Given the description of an element on the screen output the (x, y) to click on. 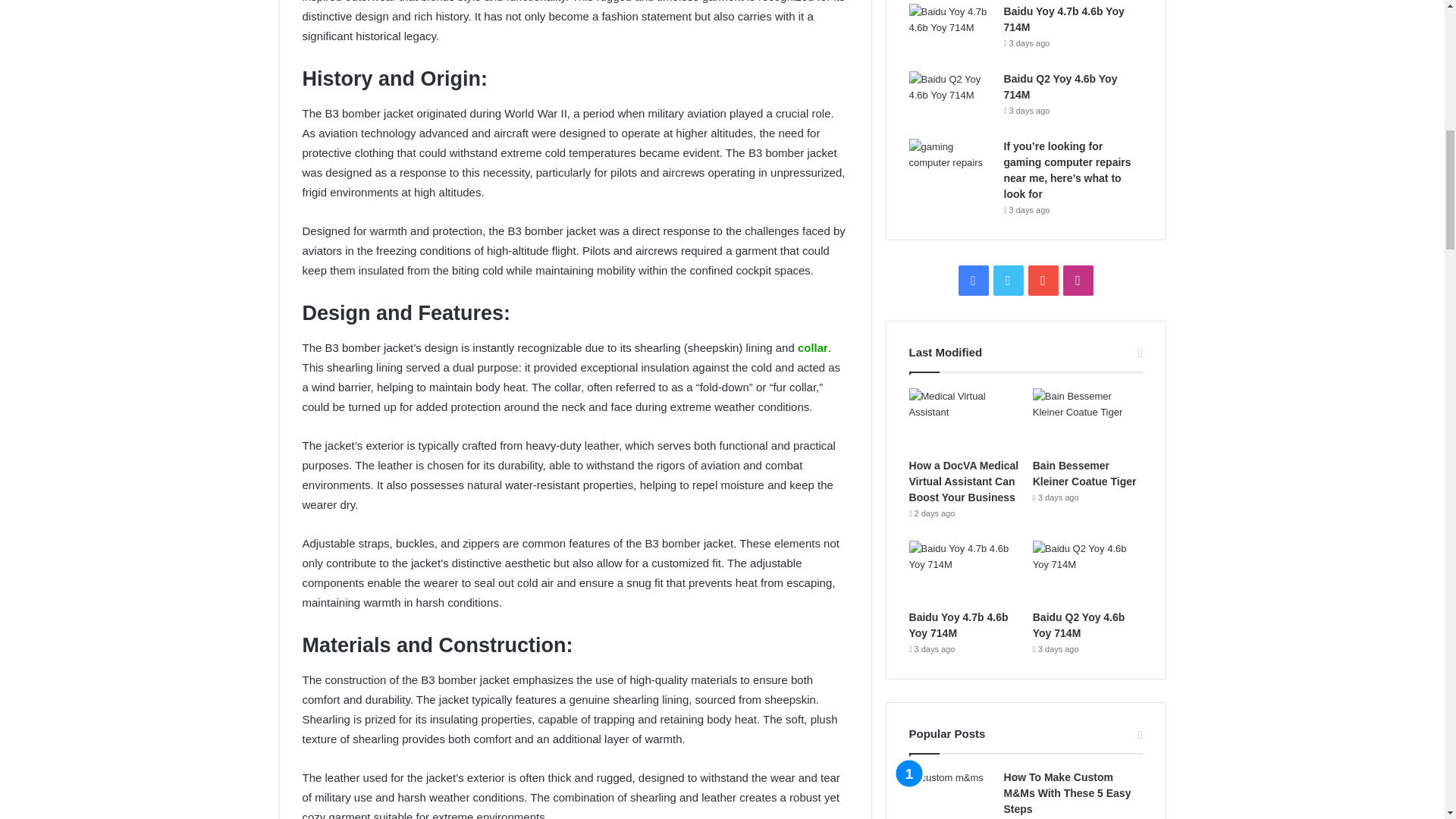
collar (812, 347)
